Given the description of an element on the screen output the (x, y) to click on. 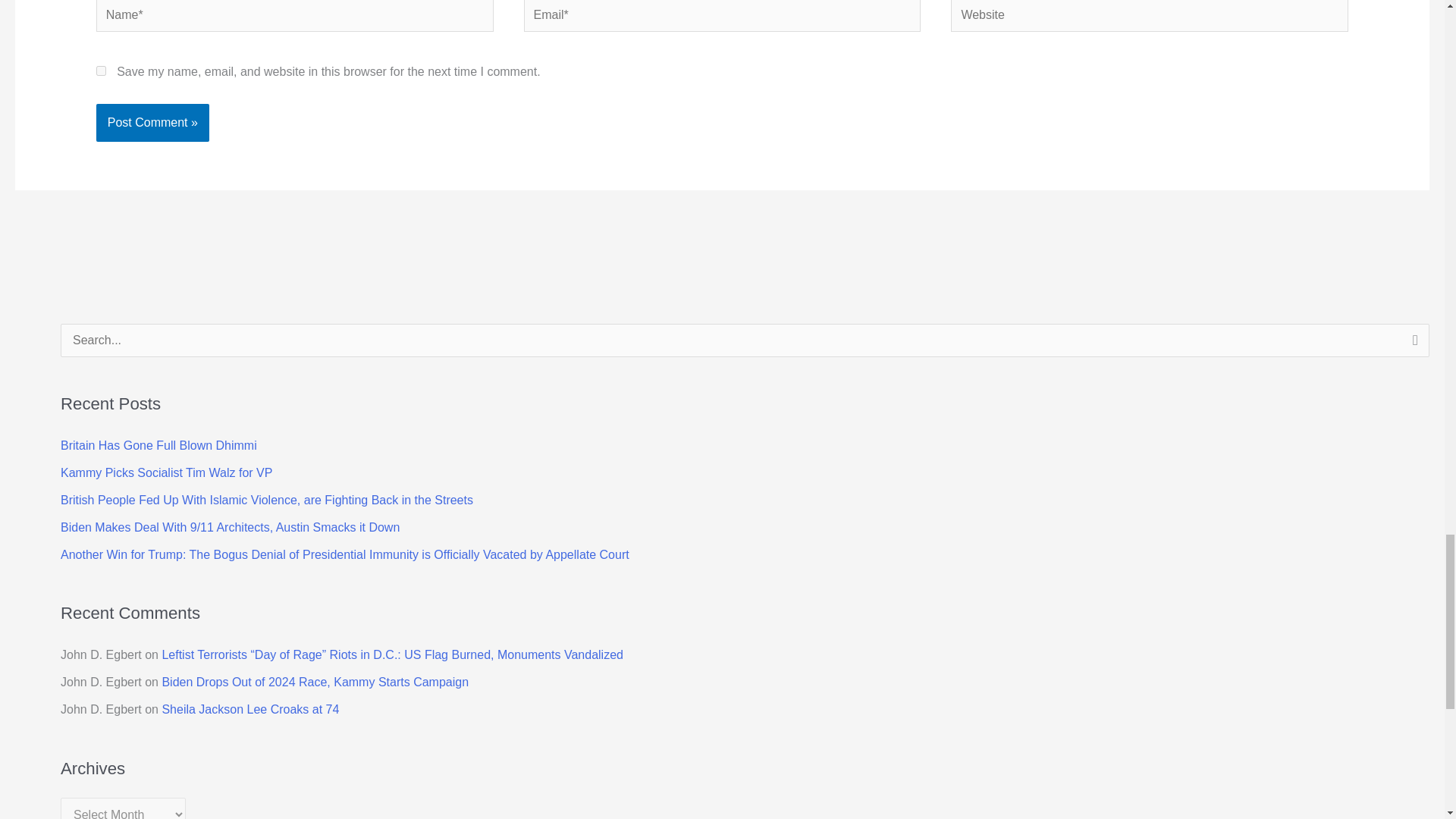
Sheila Jackson Lee Croaks at 74 (250, 708)
Biden Drops Out of 2024 Race, Kammy Starts Campaign (314, 681)
Britain Has Gone Full Blown Dhimmi (159, 444)
yes (101, 71)
Kammy Picks Socialist Tim Walz for VP (166, 472)
